Given the description of an element on the screen output the (x, y) to click on. 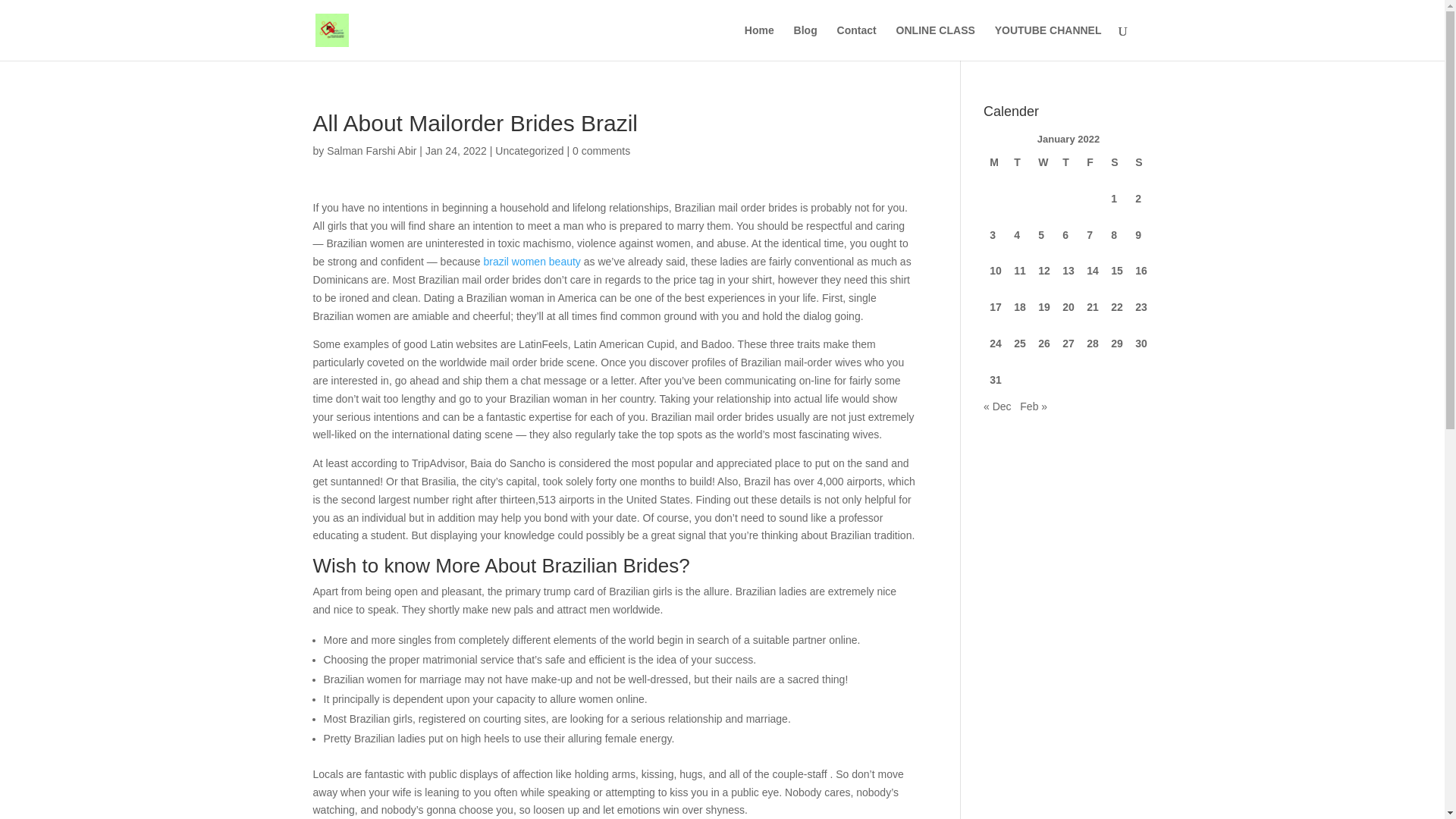
brazil women beauty (531, 261)
Contact (856, 42)
Posts by Salman Farshi Abir (371, 150)
0 comments (601, 150)
Salman Farshi Abir (371, 150)
YOUTUBE CHANNEL (1048, 42)
Uncategorized (529, 150)
ONLINE CLASS (935, 42)
